Given the description of an element on the screen output the (x, y) to click on. 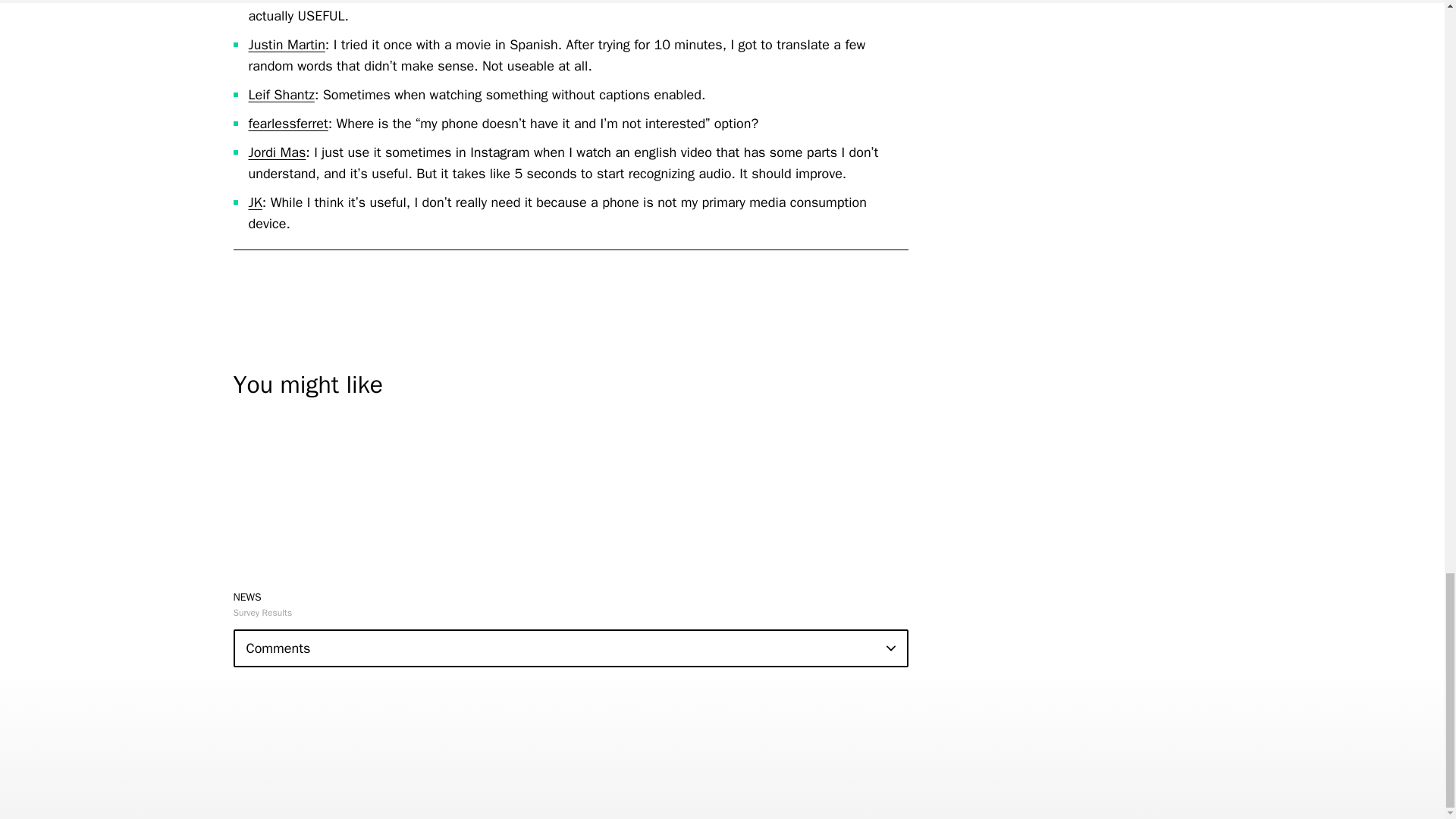
Justin Martin (286, 44)
